Given the description of an element on the screen output the (x, y) to click on. 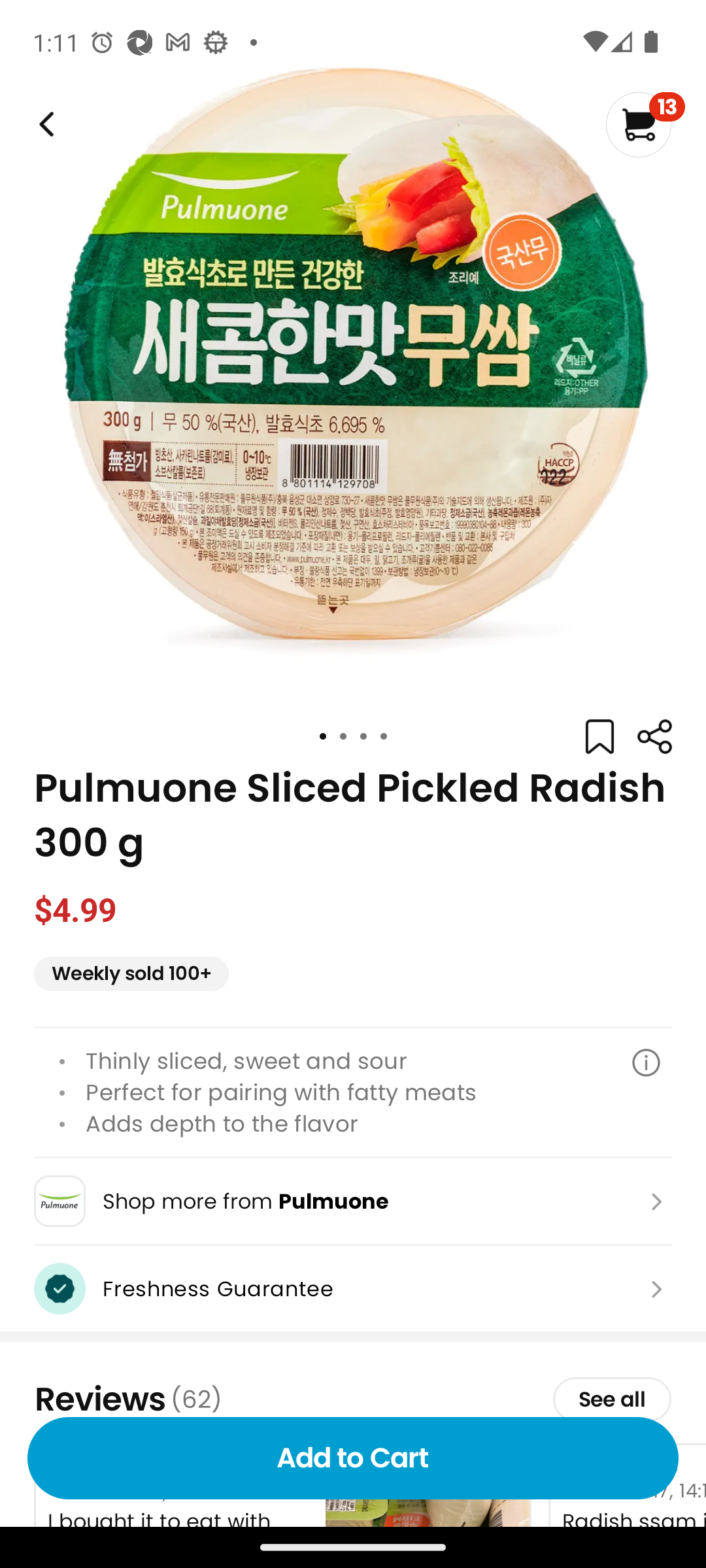
13 (644, 124)
Weee! (45, 124)
Weee! (653, 736)
Shop more from Pulmuone Weee! (352, 1200)
Freshness Guarantee (352, 1288)
Reviews (62) See all (353, 1399)
Add to Cart (352, 1458)
